Given the description of an element on the screen output the (x, y) to click on. 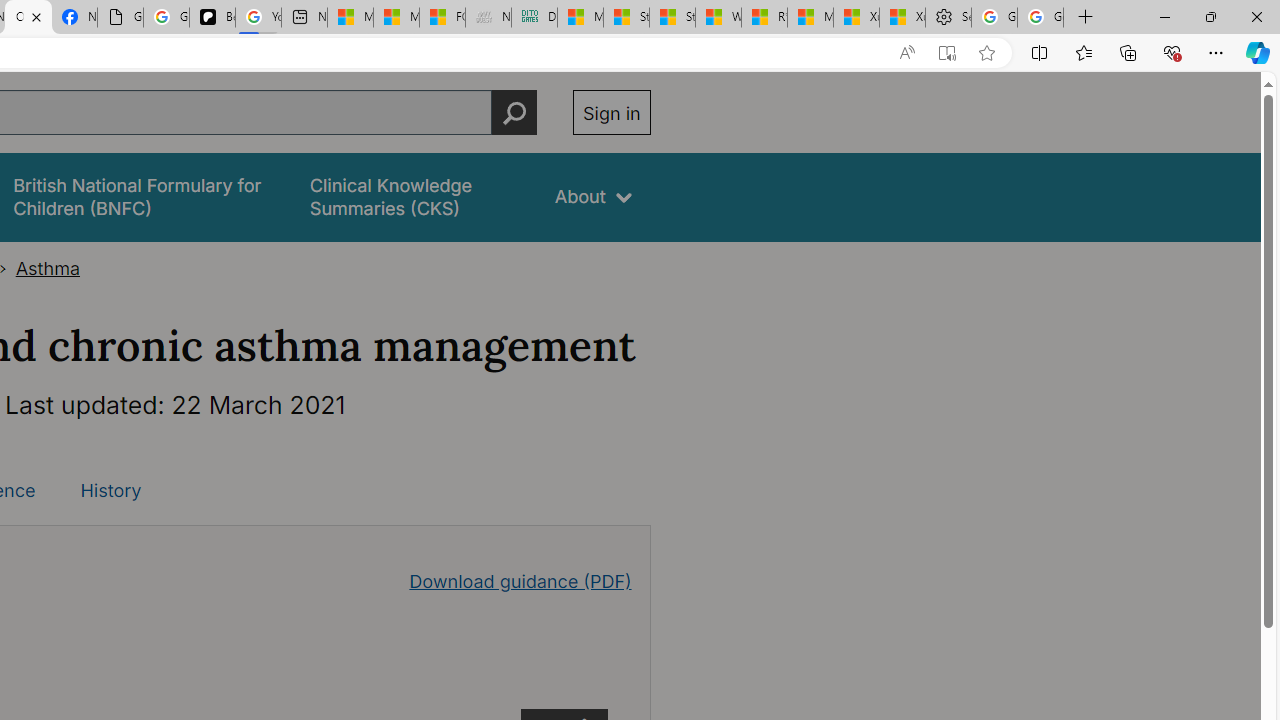
History (110, 490)
Be Smart | creating Science videos | Patreon (212, 17)
R******* | Trusted Community Engagement and Contributions (764, 17)
Google Analytics Opt-out Browser Add-on Download Page (120, 17)
